Given the description of an element on the screen output the (x, y) to click on. 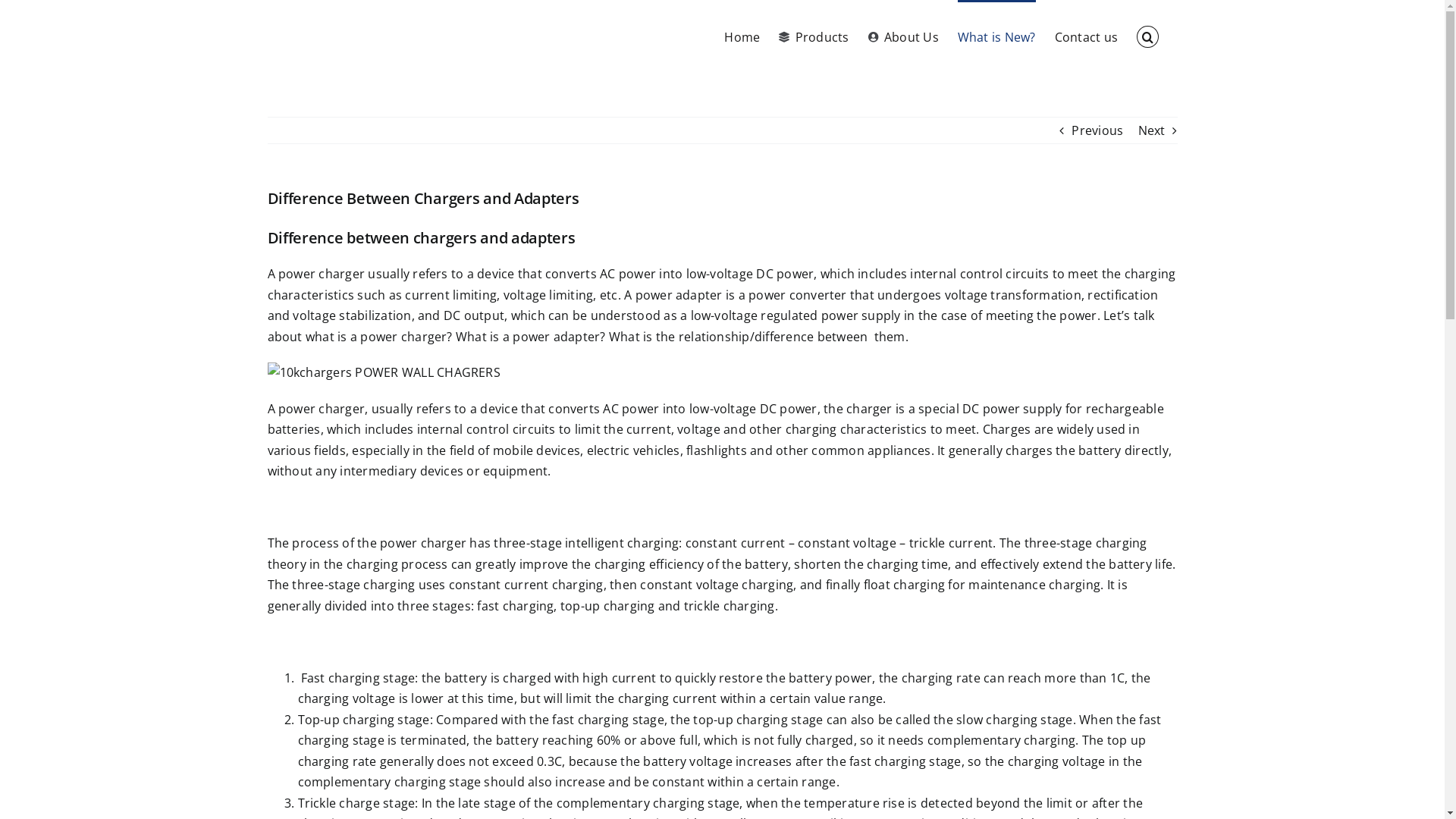
What is New? Element type: text (996, 35)
About Us Element type: text (903, 35)
Next Element type: text (1151, 130)
Previous Element type: text (1097, 130)
Search Element type: hover (1146, 35)
Contact us Element type: text (1085, 35)
Products Element type: text (813, 35)
Home Element type: text (741, 35)
A power charger, Element type: text (316, 408)
